Given the description of an element on the screen output the (x, y) to click on. 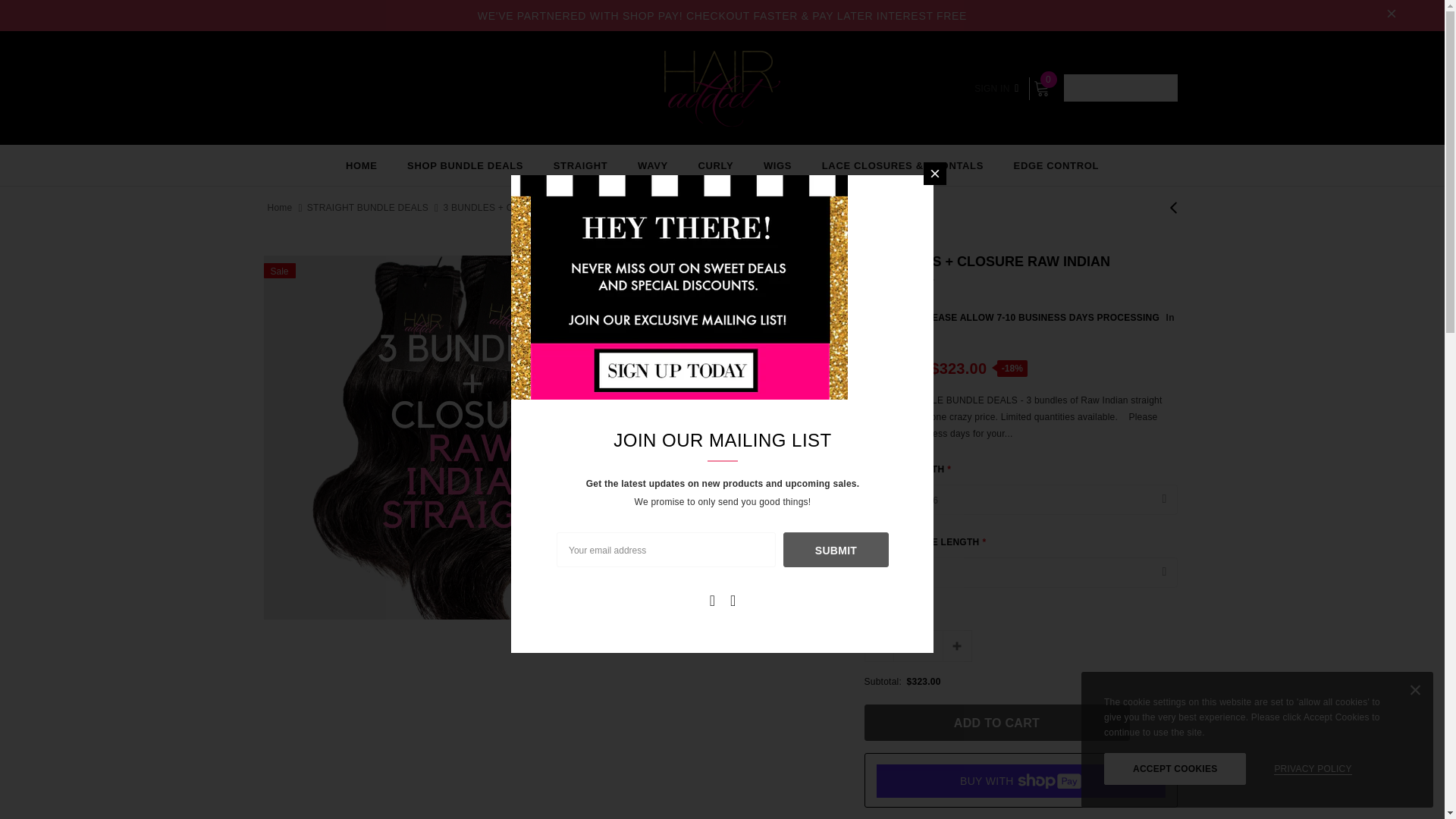
0 (1040, 88)
Logo (720, 87)
STRAIGHT (580, 164)
Add to Cart (996, 722)
Submit (835, 549)
SIGN IN (995, 88)
Cart Icon (1040, 88)
SHOP BUNDLE DEALS (464, 164)
1 (917, 646)
close (1391, 15)
